Given the description of an element on the screen output the (x, y) to click on. 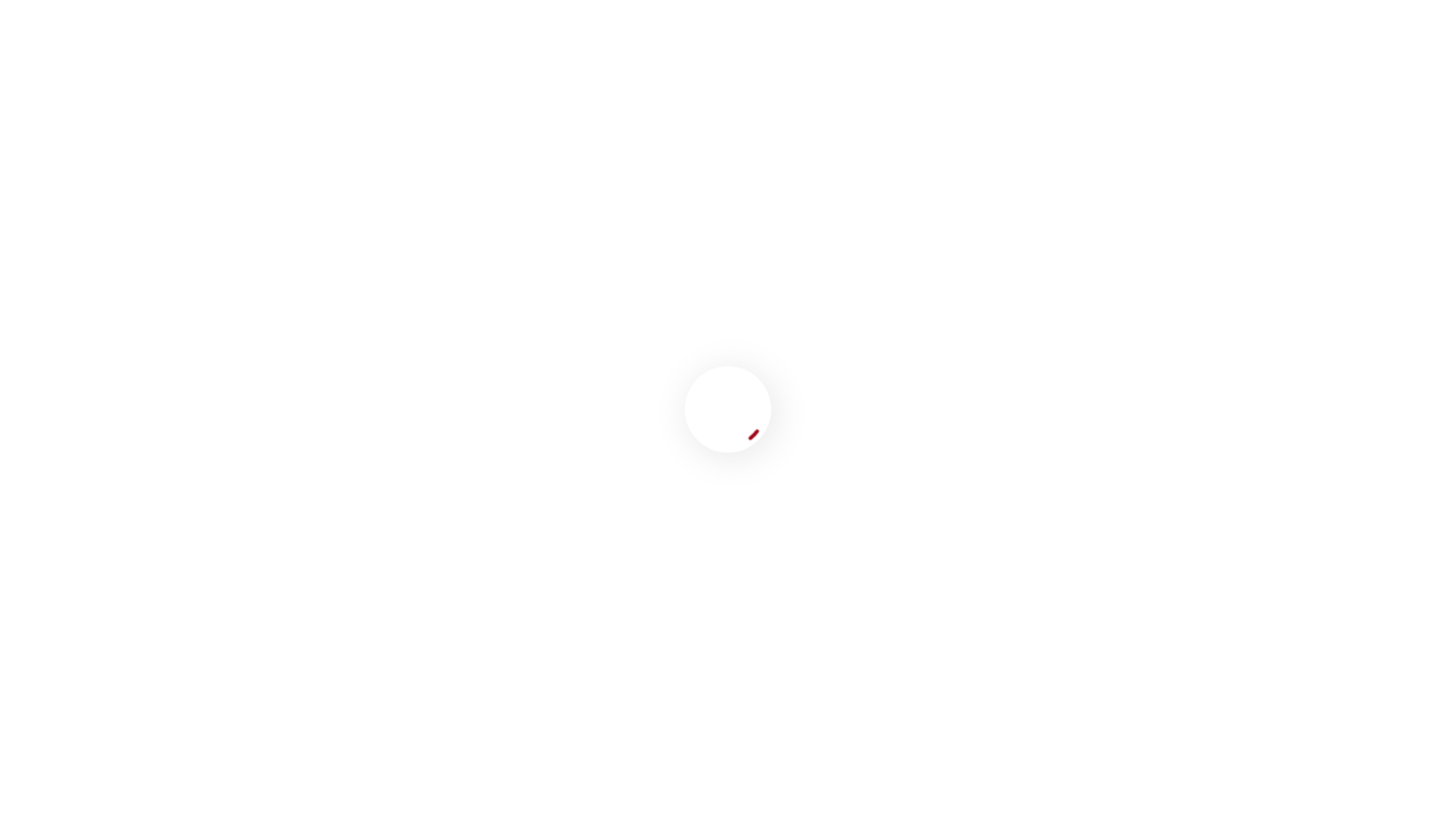
Plus d'infos Element type: text (36, 615)
GROUPES Element type: text (1146, 83)
CONTACT Element type: text (1411, 83)
ACCUEIL Element type: text (970, 83)
CAVEAUBAR Element type: text (1057, 83)
Plus d'infos Element type: text (36, 708)
Caveau des Vignerons de St-Saphorin Element type: text (256, 83)
VIGNERONS Element type: text (1236, 83)
